Given the description of an element on the screen output the (x, y) to click on. 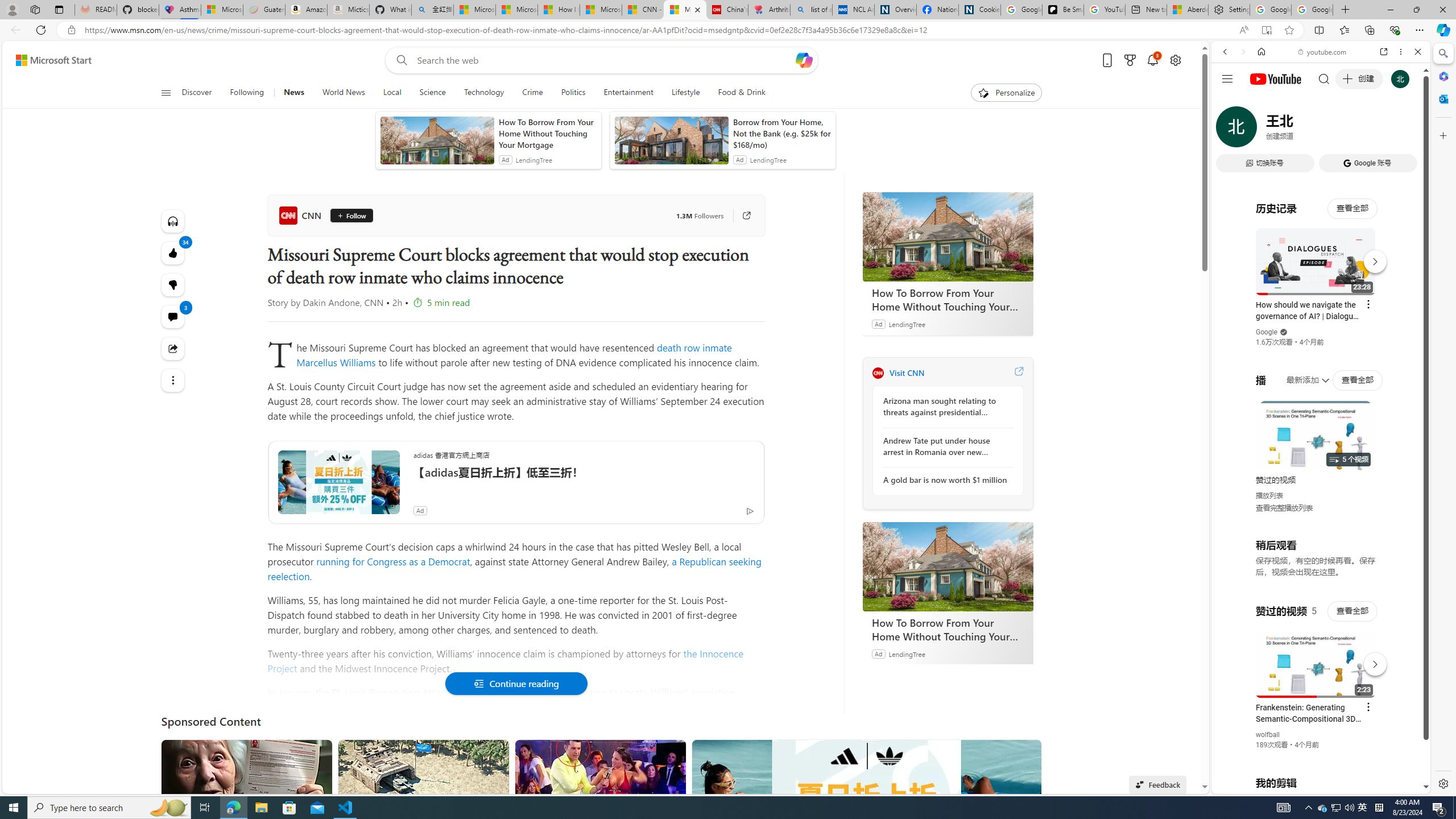
Workspaces (34, 9)
Google (1266, 331)
Search Filter, WEB (1230, 129)
Discover (197, 92)
Search Filter, IMAGES (1262, 129)
SEARCH TOOLS (1350, 130)
Food & Drink (737, 92)
Home (1261, 51)
Be Smart | creating Science videos | Patreon (1062, 9)
Ad (877, 653)
Borrow from Your Home, Not the Bank (e.g. $25k for $168/mo) (781, 133)
